Given the description of an element on the screen output the (x, y) to click on. 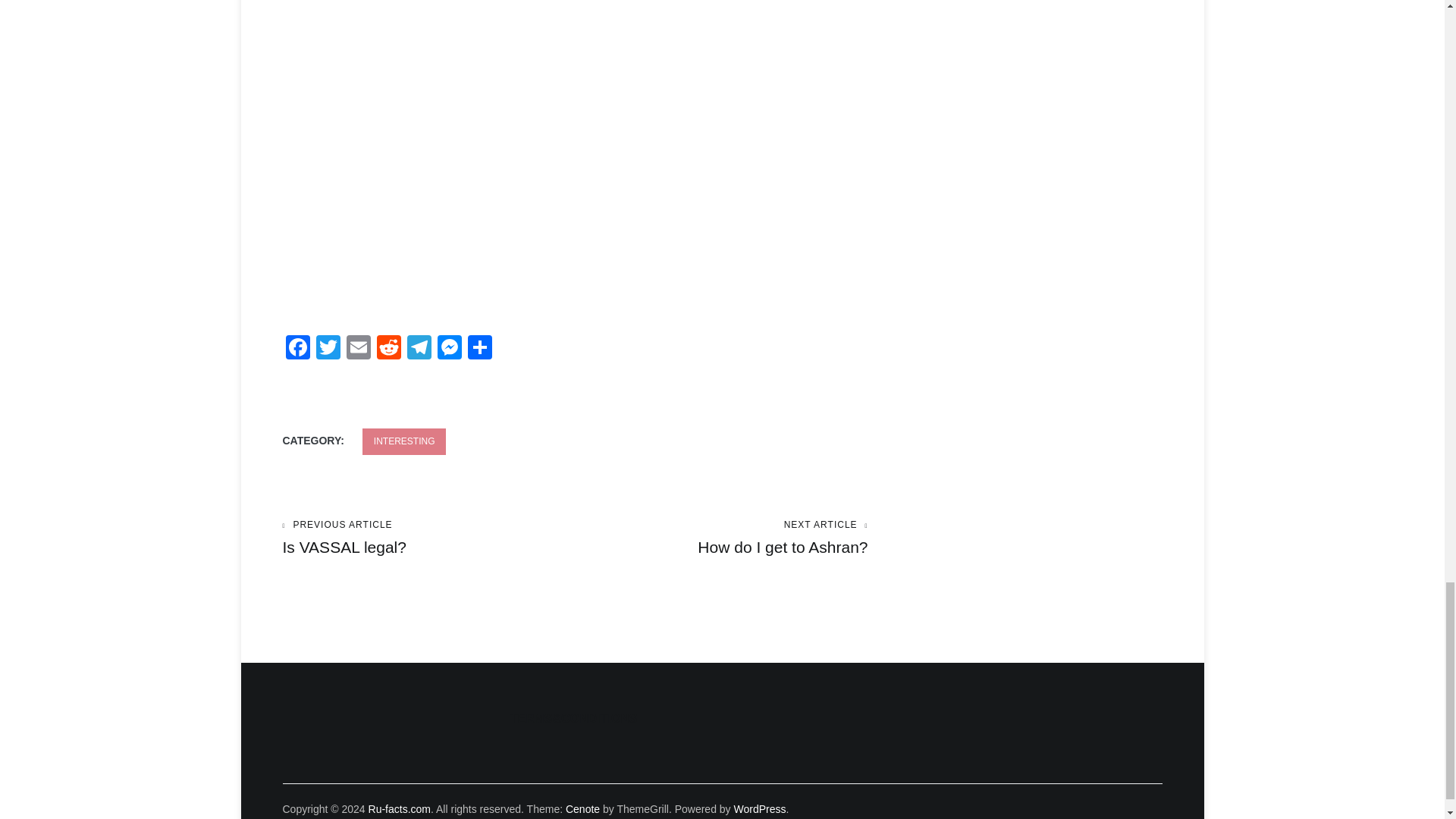
Twitter (327, 348)
Telegram (418, 348)
Email (357, 348)
Ru-facts.com (399, 808)
Telegram (418, 348)
Email (357, 348)
Reddit (387, 348)
INTERESTING (721, 537)
Facebook (404, 441)
Messenger (297, 348)
Messenger (448, 348)
Twitter (448, 348)
